Given the description of an element on the screen output the (x, y) to click on. 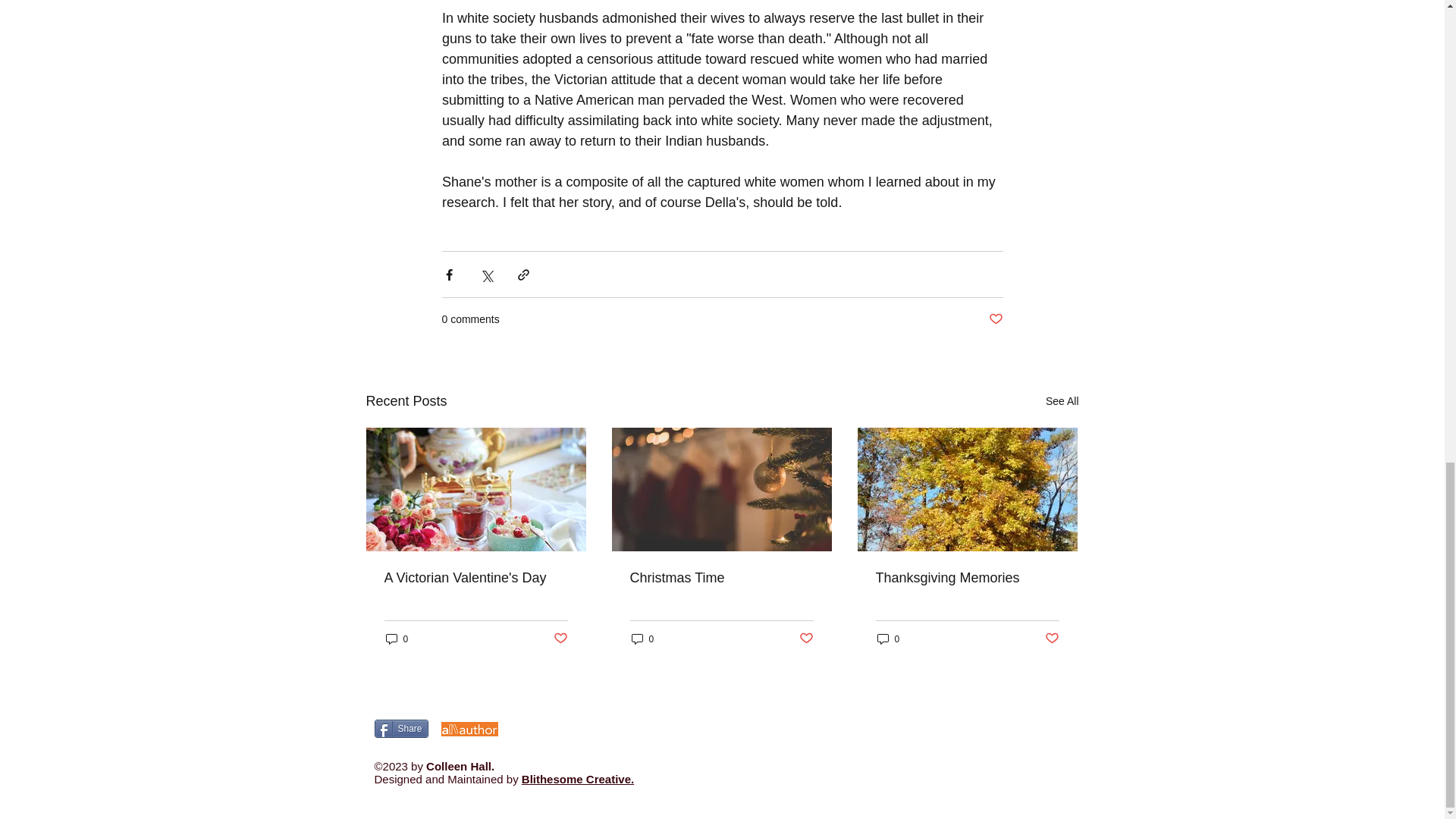
Thanksgiving Memories (966, 578)
Post not marked as liked (995, 319)
Post not marked as liked (560, 638)
Post not marked as liked (1052, 638)
Christmas Time (720, 578)
Share (401, 728)
Share (401, 728)
See All (1061, 401)
Post not marked as liked (806, 638)
0 (641, 638)
